Given the description of an element on the screen output the (x, y) to click on. 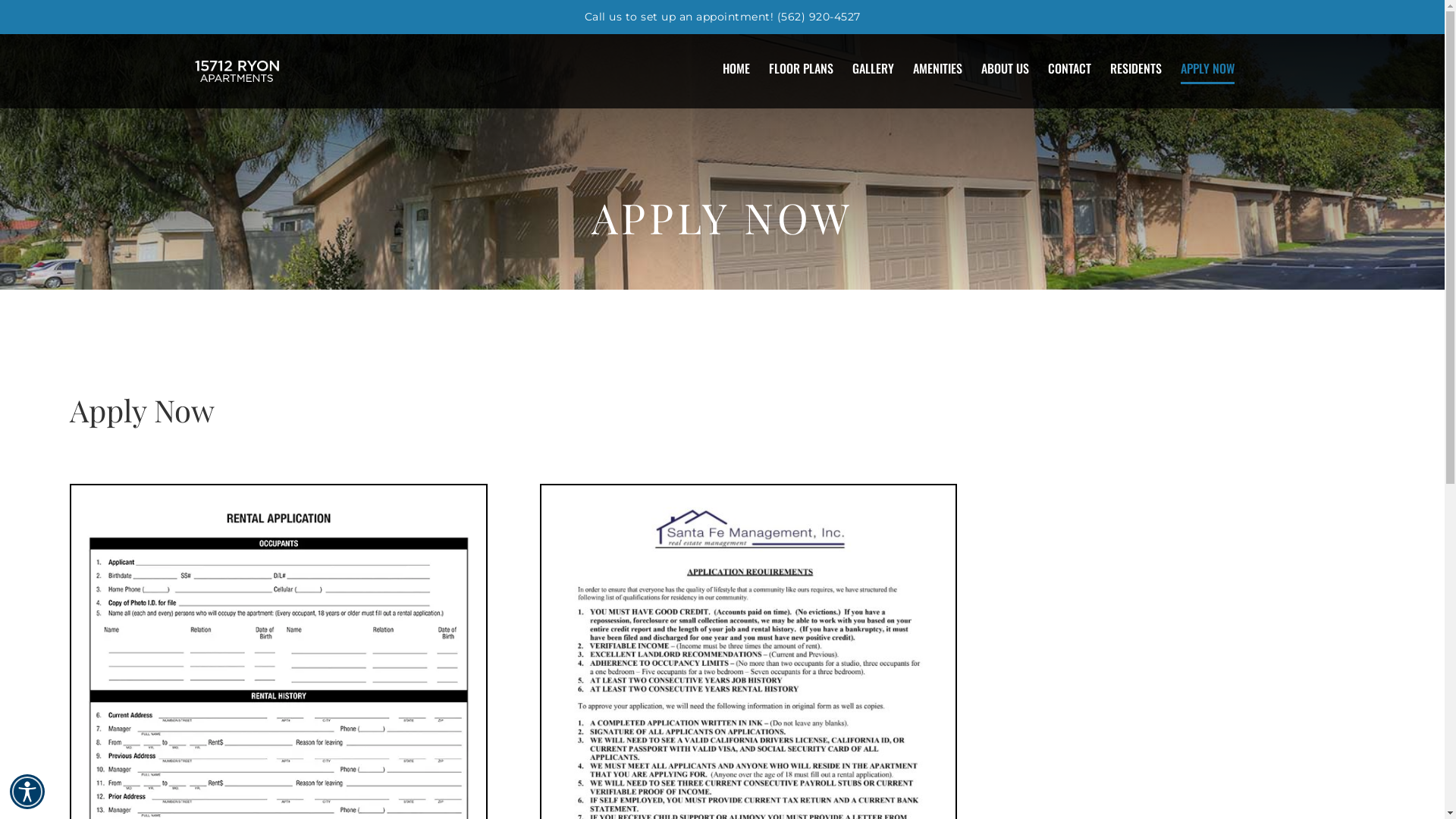
CONTACT Element type: text (1069, 68)
AMENITIES Element type: text (937, 68)
FLOOR PLANS Element type: text (800, 68)
APPLY NOW Element type: text (1206, 68)
GALLERY Element type: text (873, 68)
HOME Element type: text (735, 68)
ABOUT US Element type: text (1005, 68)
RESIDENTS Element type: text (1135, 68)
Call us to set up an appointment! (562) 920-4527 Element type: text (721, 16)
